Given the description of an element on the screen output the (x, y) to click on. 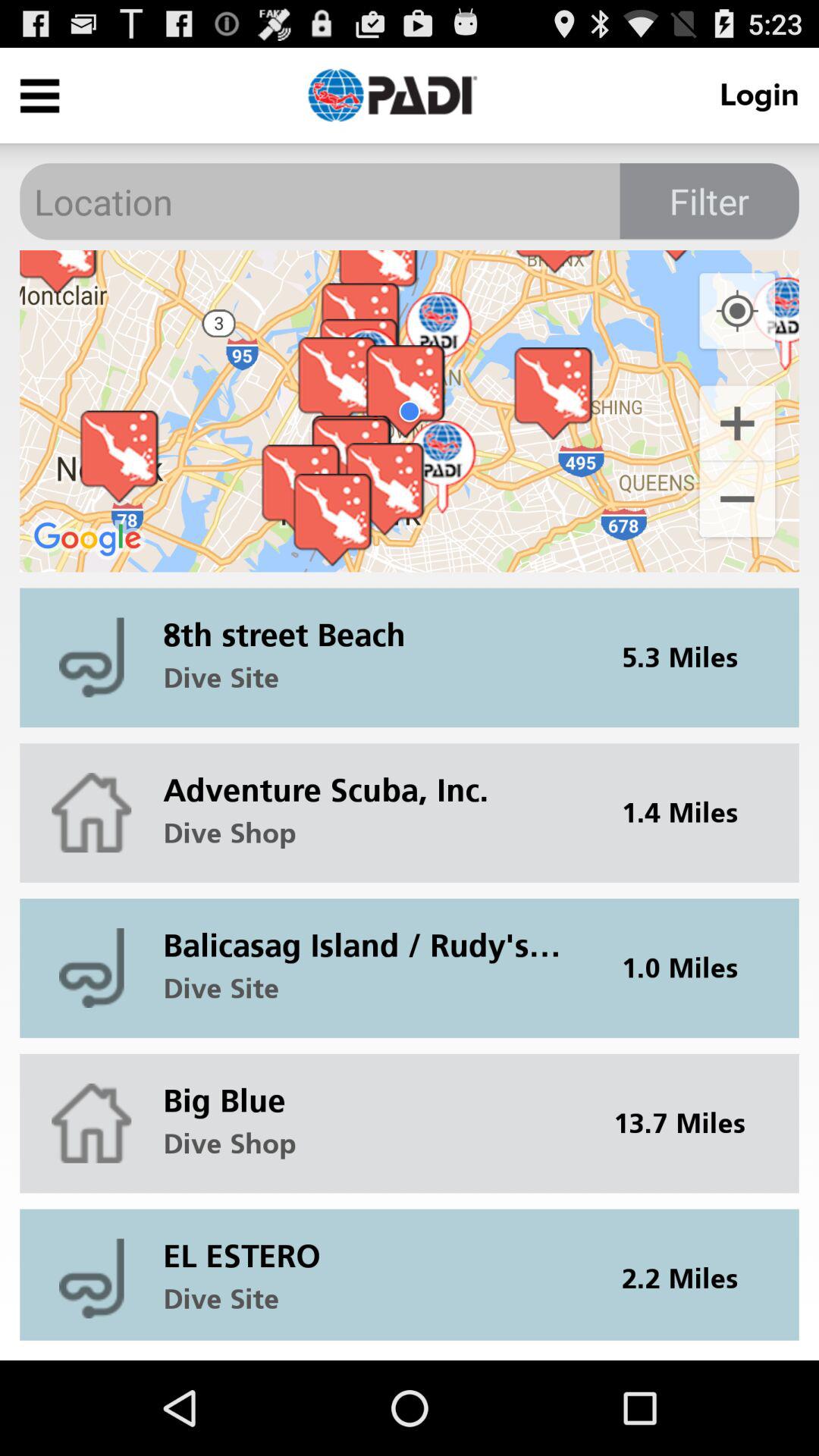
tap the big blue (371, 1088)
